Given the description of an element on the screen output the (x, y) to click on. 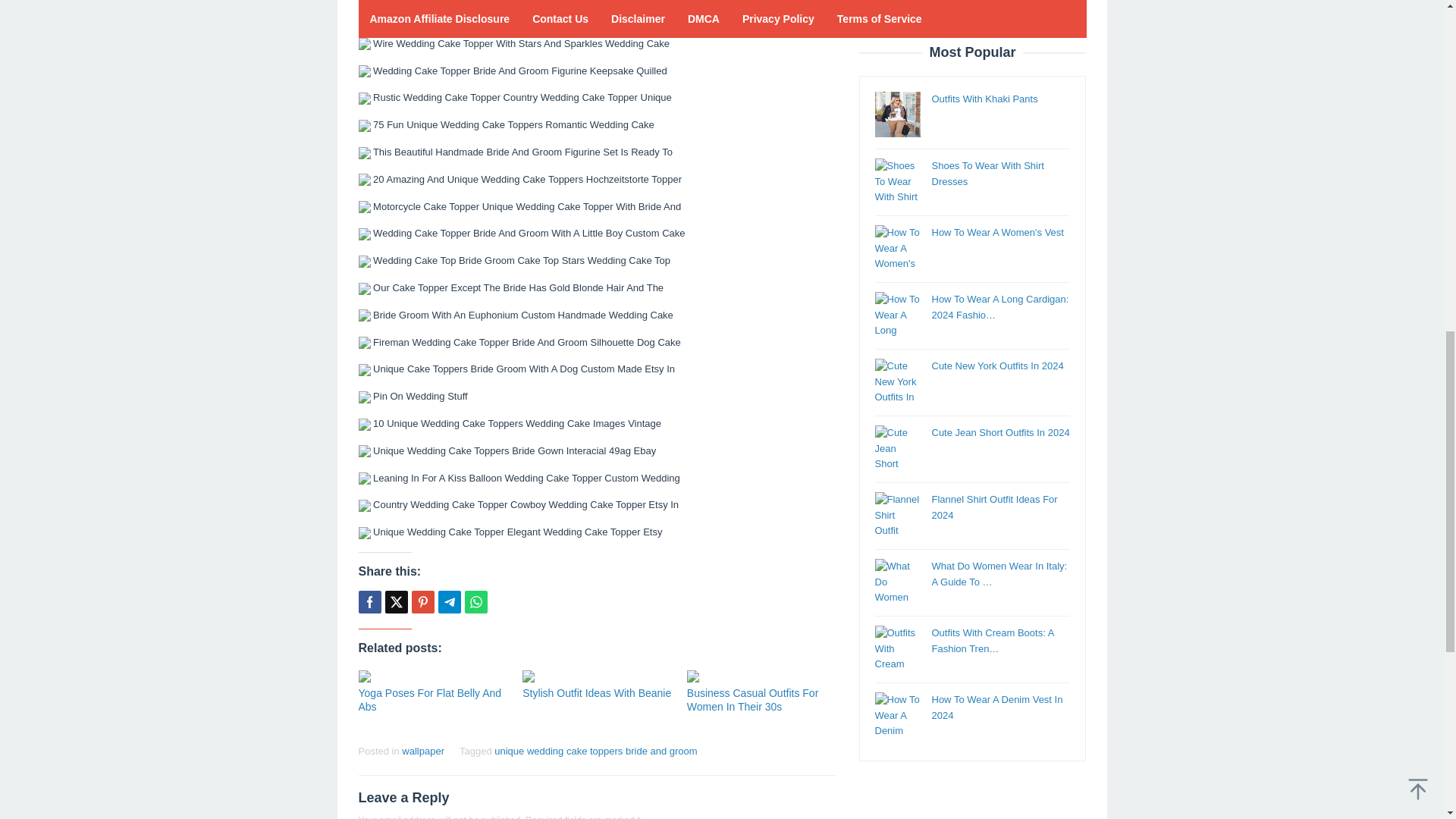
Permalink to: Stylish Outfit Ideas With Beanie (596, 693)
Share this (369, 601)
Permalink to: Business Casual Outfits For Women In Their 30s (761, 676)
Permalink to: Yoga Poses For Flat Belly And Abs (432, 676)
Yoga Poses For Flat Belly And Abs (429, 699)
Permalink to: Stylish Outfit Ideas With Beanie (596, 676)
Whatsapp (475, 601)
Tweet this (396, 601)
Permalink to: Yoga Poses For Flat Belly And Abs (429, 699)
Pin this (421, 601)
